Given the description of an element on the screen output the (x, y) to click on. 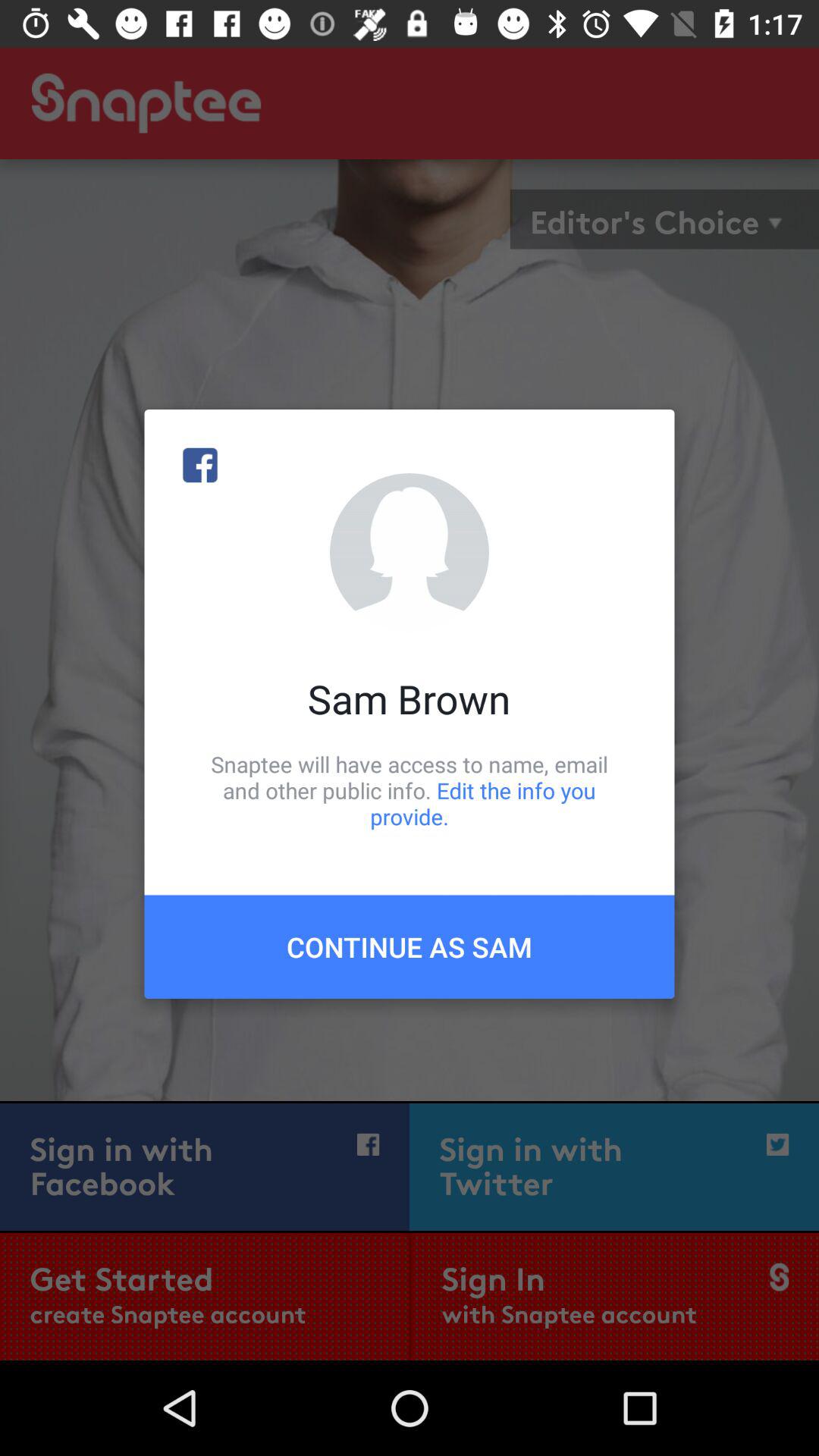
turn on item below sam brown item (409, 790)
